Given the description of an element on the screen output the (x, y) to click on. 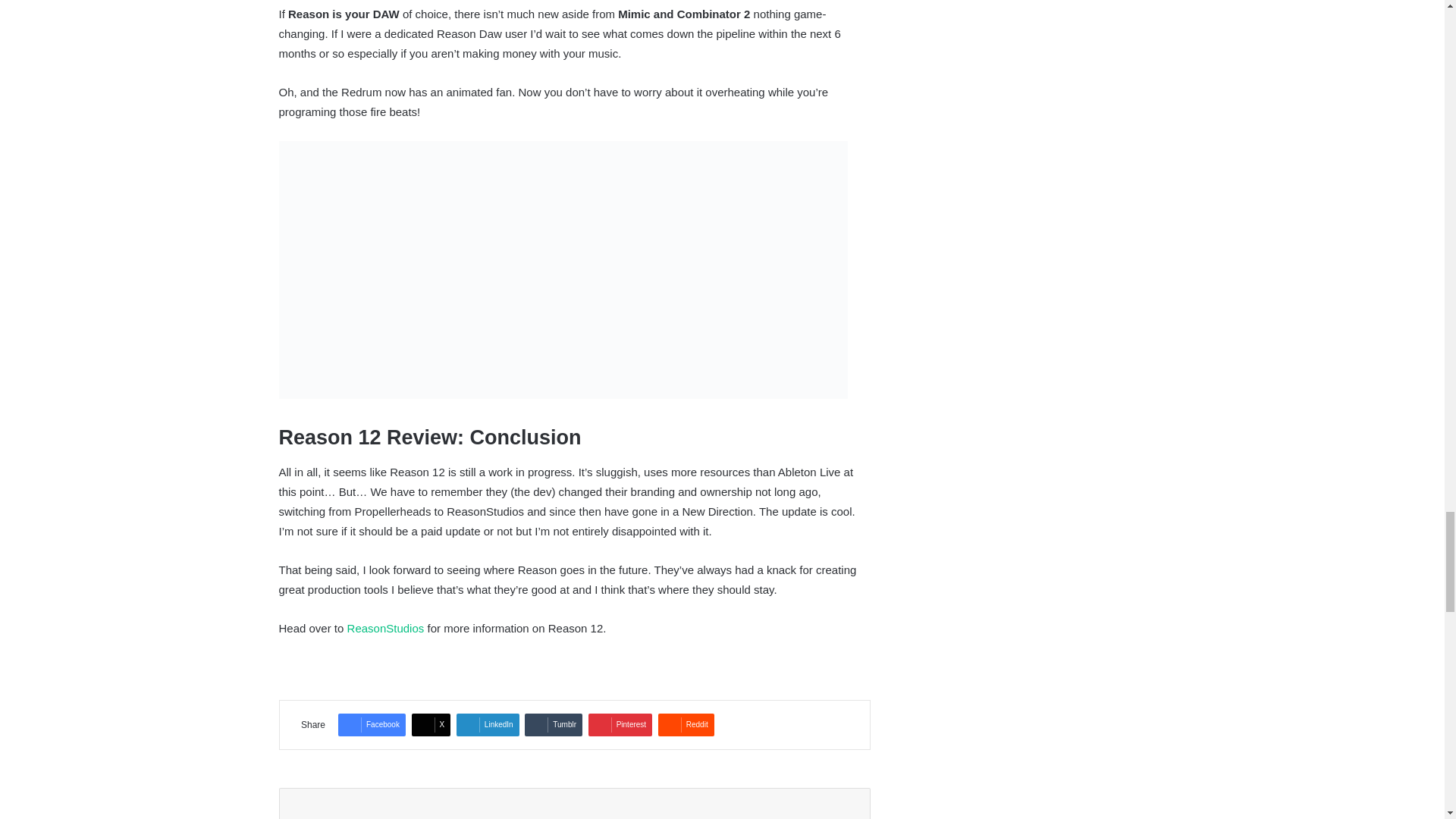
Tumblr (553, 724)
Tumblr (553, 724)
LinkedIn (488, 724)
Pinterest (620, 724)
Reddit (686, 724)
Reddit (686, 724)
Pinterest (620, 724)
LinkedIn (488, 724)
X (431, 724)
Facebook (371, 724)
